Given the description of an element on the screen output the (x, y) to click on. 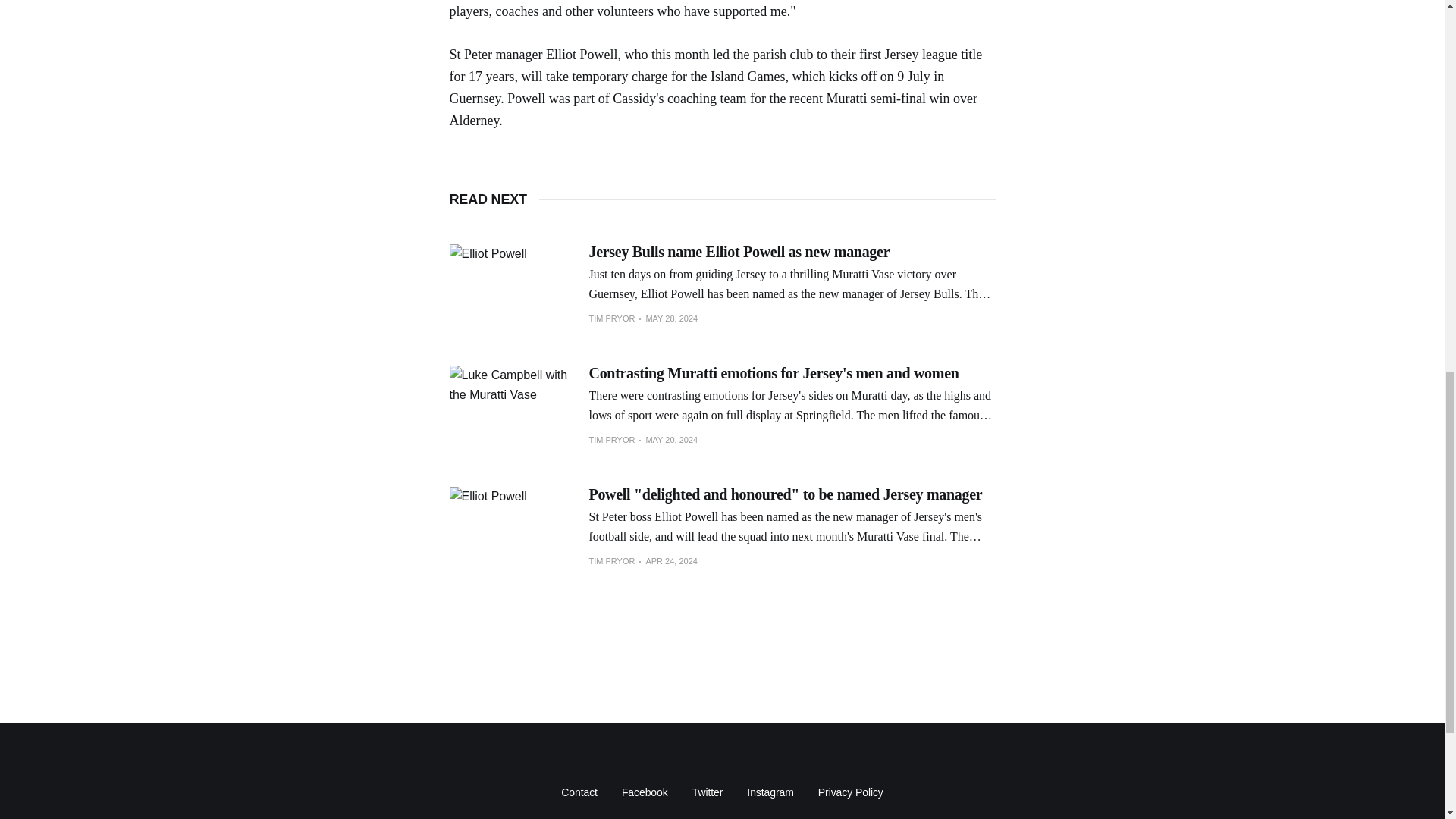
Privacy Policy (850, 791)
Instagram (769, 791)
Contact (578, 791)
Facebook (644, 791)
Twitter (708, 791)
